Given the description of an element on the screen output the (x, y) to click on. 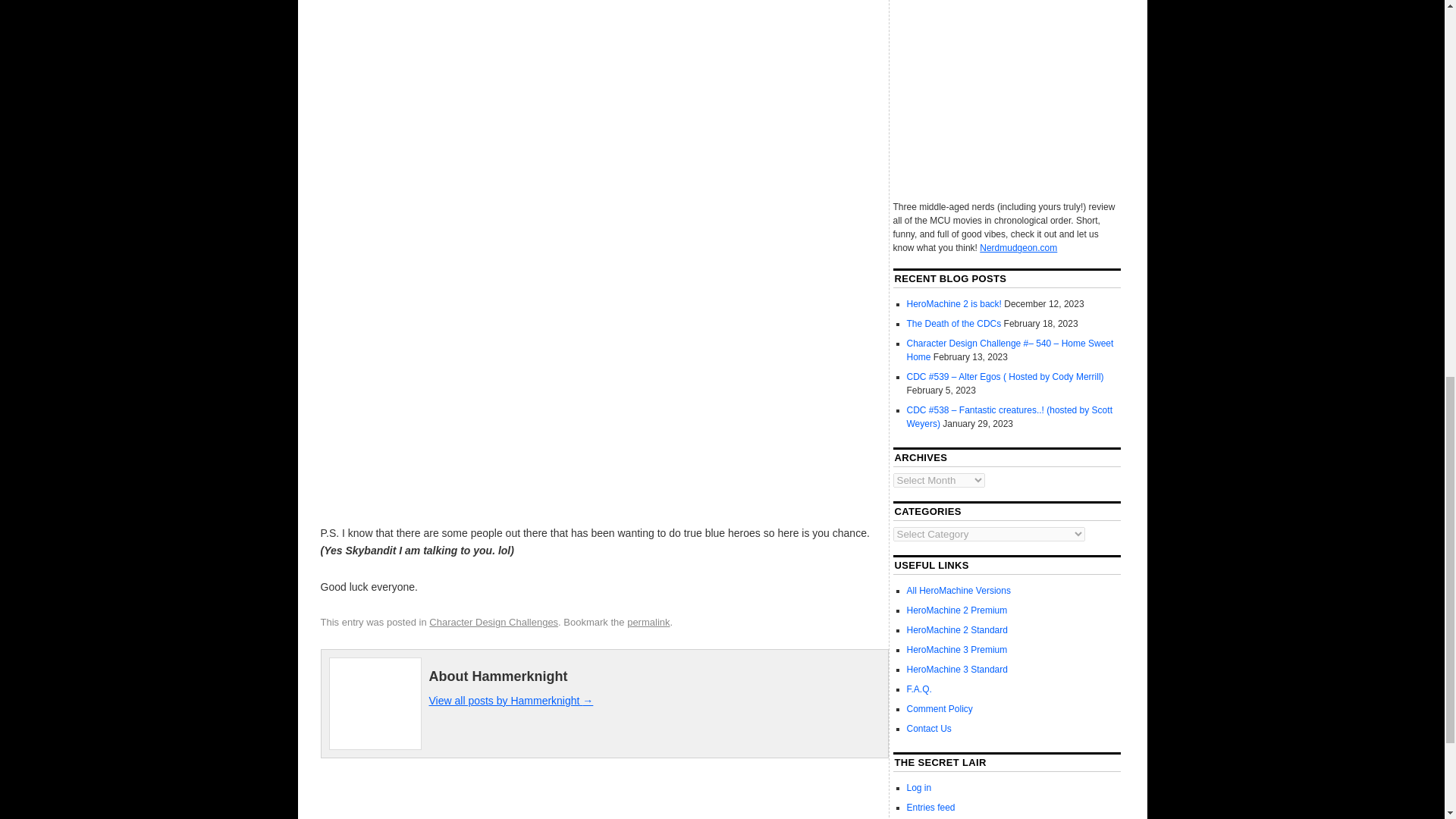
Comment Policy (939, 708)
F.A.Q. (919, 688)
Nerdmudgeon.com (1018, 247)
All HeroMachine Versions (958, 590)
HeroMachine 3 Premium (957, 649)
The Death of the CDCs (954, 323)
HeroMachine 2 Premium (957, 610)
Character Design Challenges (493, 622)
HeroMachine 3 Standard (957, 669)
permalink (648, 622)
